Given the description of an element on the screen output the (x, y) to click on. 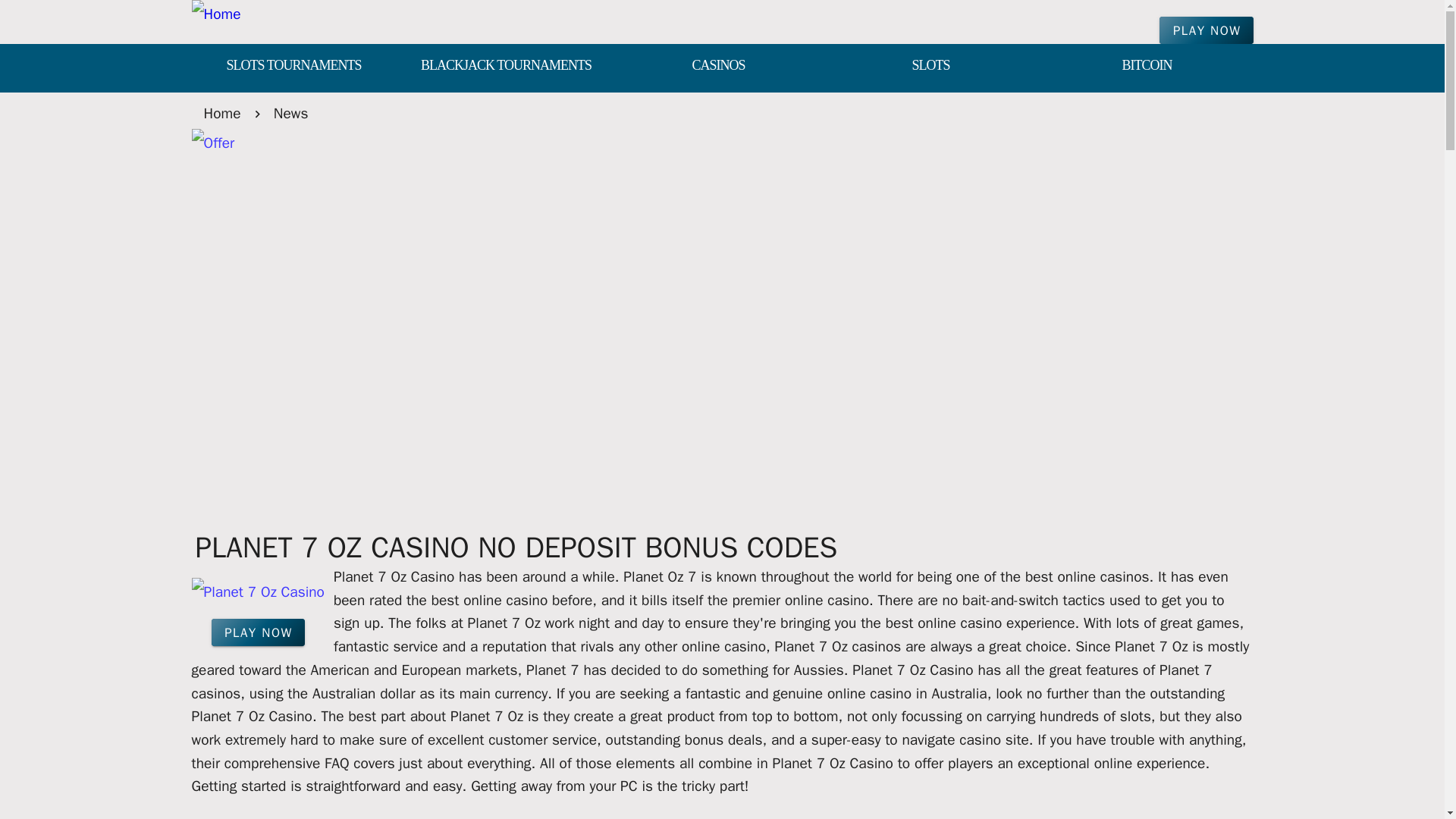
SLOTS TOURNAMENTS (293, 66)
BLACKJACK TOURNAMENTS (505, 66)
News (290, 113)
SLOTS (930, 66)
PLAY NOW (1205, 30)
BITCOIN (1146, 66)
PLAY NOW (257, 632)
Home (221, 113)
CASINOS (718, 66)
